Given the description of an element on the screen output the (x, y) to click on. 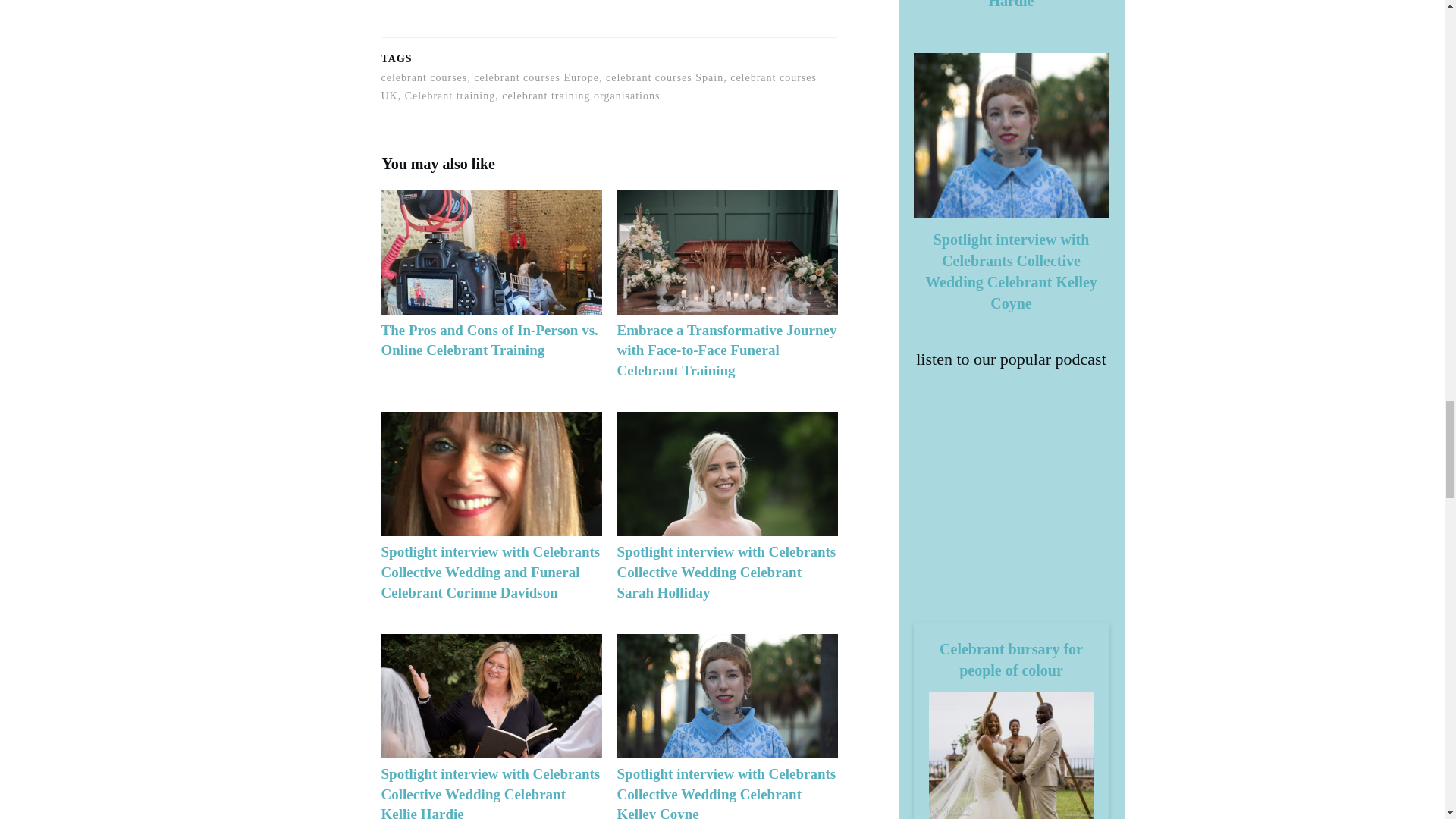
The Pros and Cons of In-Person vs. Online Celebrant Training (490, 293)
The Pros and Cons of In-Person vs. Online Celebrant Training (488, 340)
